Given the description of an element on the screen output the (x, y) to click on. 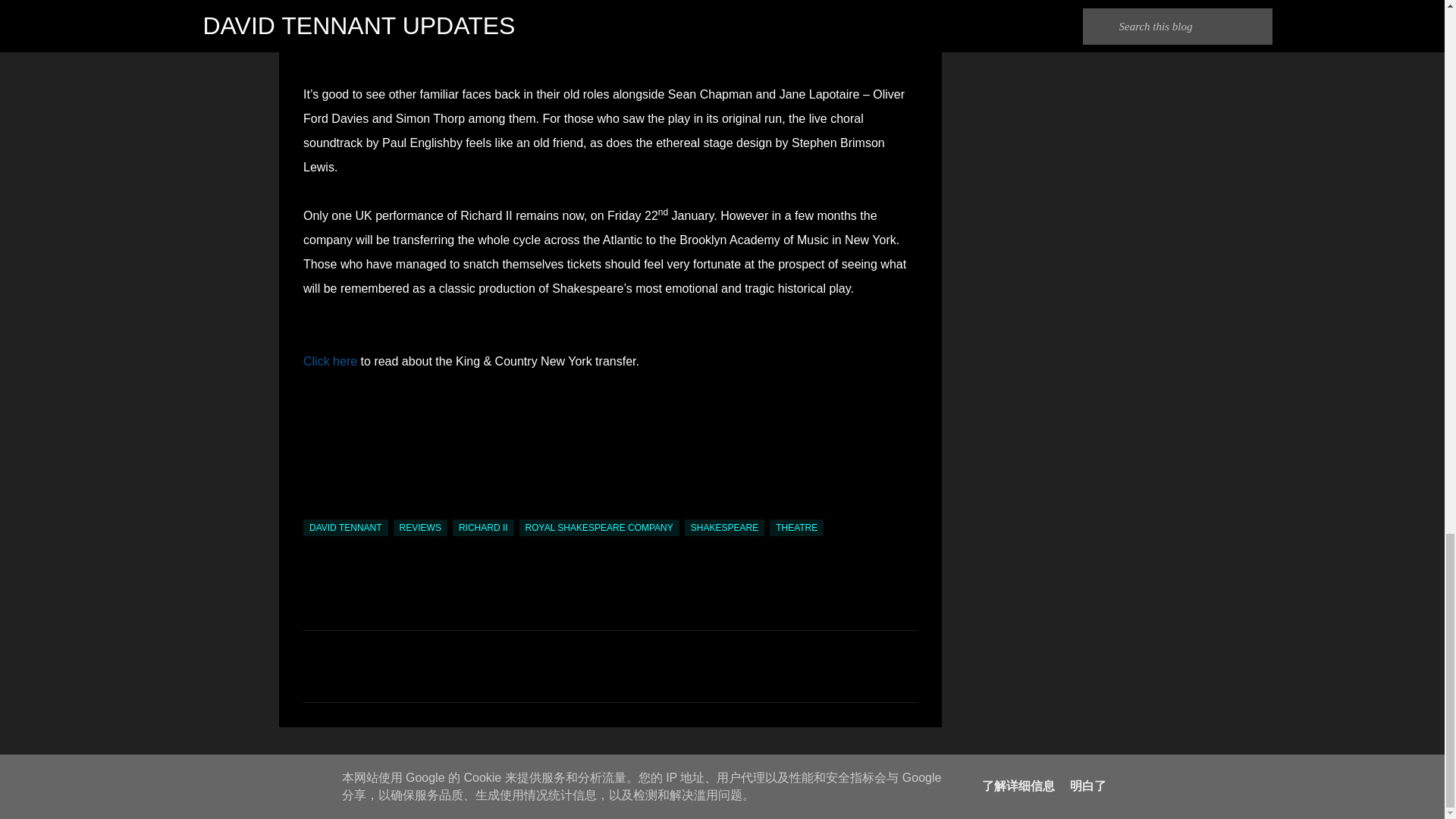
Email Post (311, 510)
ROYAL SHAKESPEARE COMPANY (599, 527)
RICHARD II (482, 527)
REVIEWS (419, 527)
SHAKESPEARE (724, 527)
Click here (329, 360)
Powered by Blogger (721, 766)
THEATRE (797, 527)
DAVID TENNANT (345, 527)
